Given the description of an element on the screen output the (x, y) to click on. 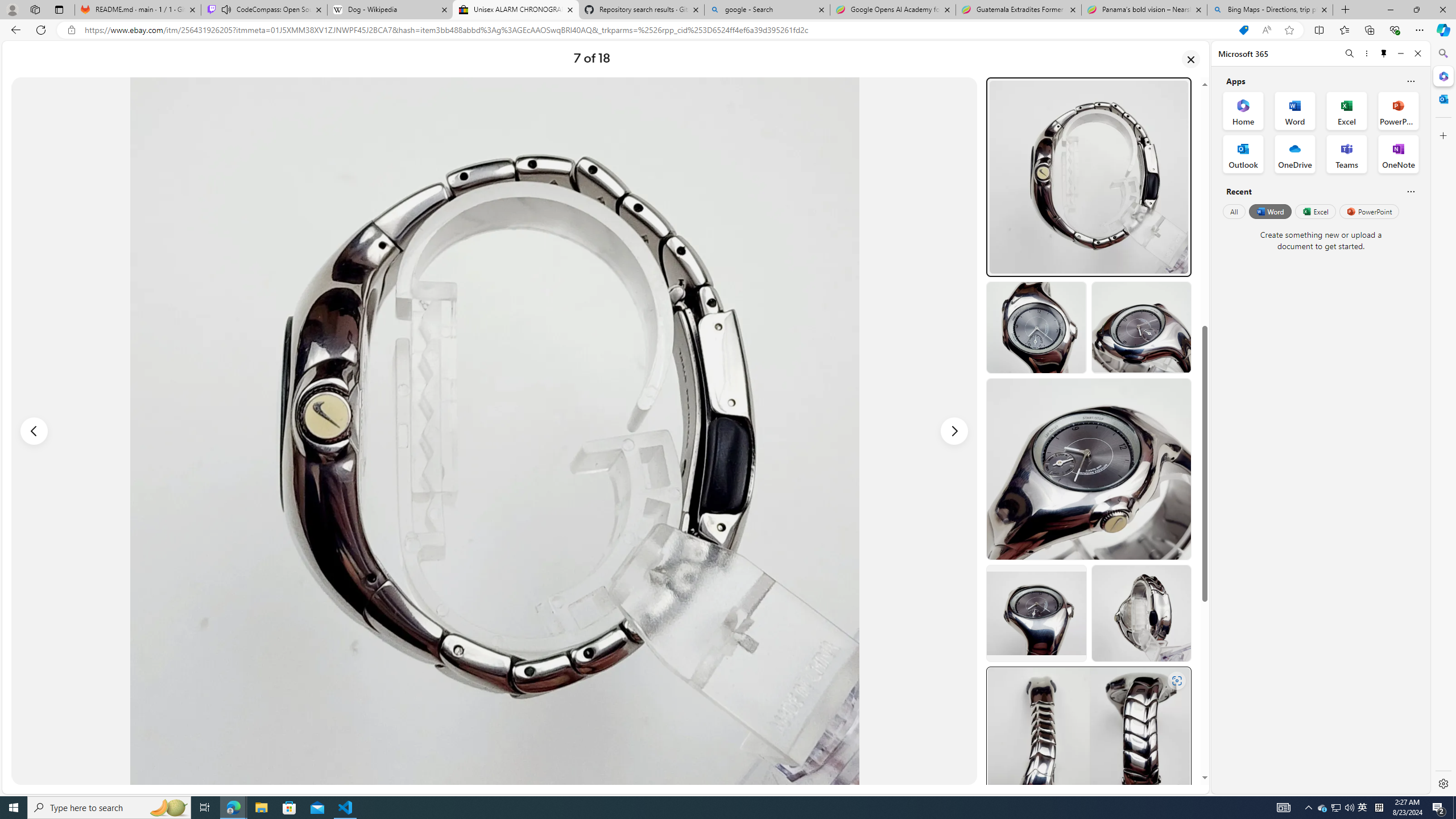
Previous image - Item images thumbnails (34, 430)
Picture 7 of 18 (493, 430)
All (1233, 210)
Next image - Item images thumbnails (954, 430)
